Given the description of an element on the screen output the (x, y) to click on. 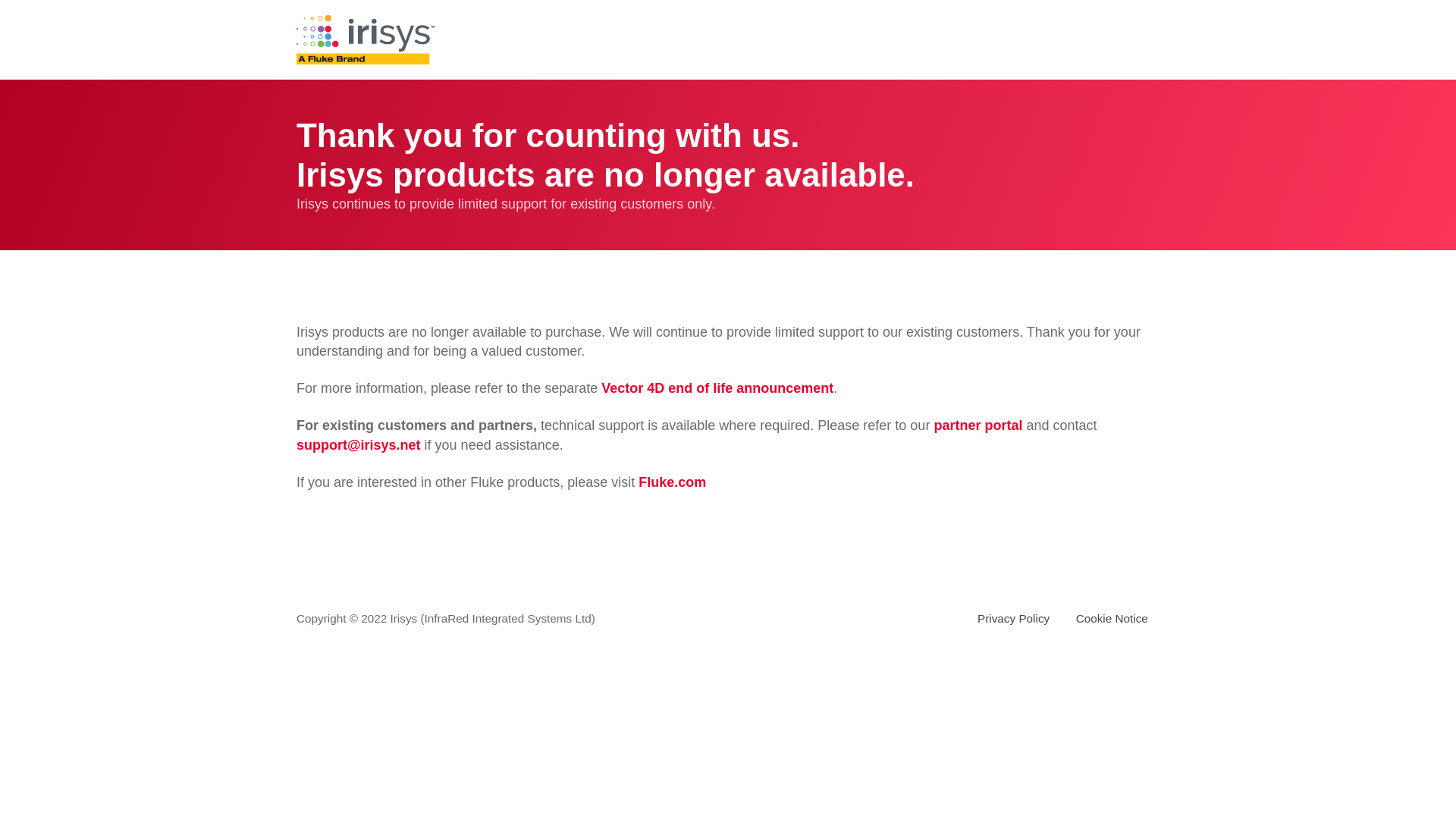
partner portal (977, 425)
Vector 4D end of life announcement (716, 387)
Irisys Logo (366, 39)
Privacy Policy (1012, 617)
Cookie Notice (1111, 617)
Fluke.com (672, 482)
